Given the description of an element on the screen output the (x, y) to click on. 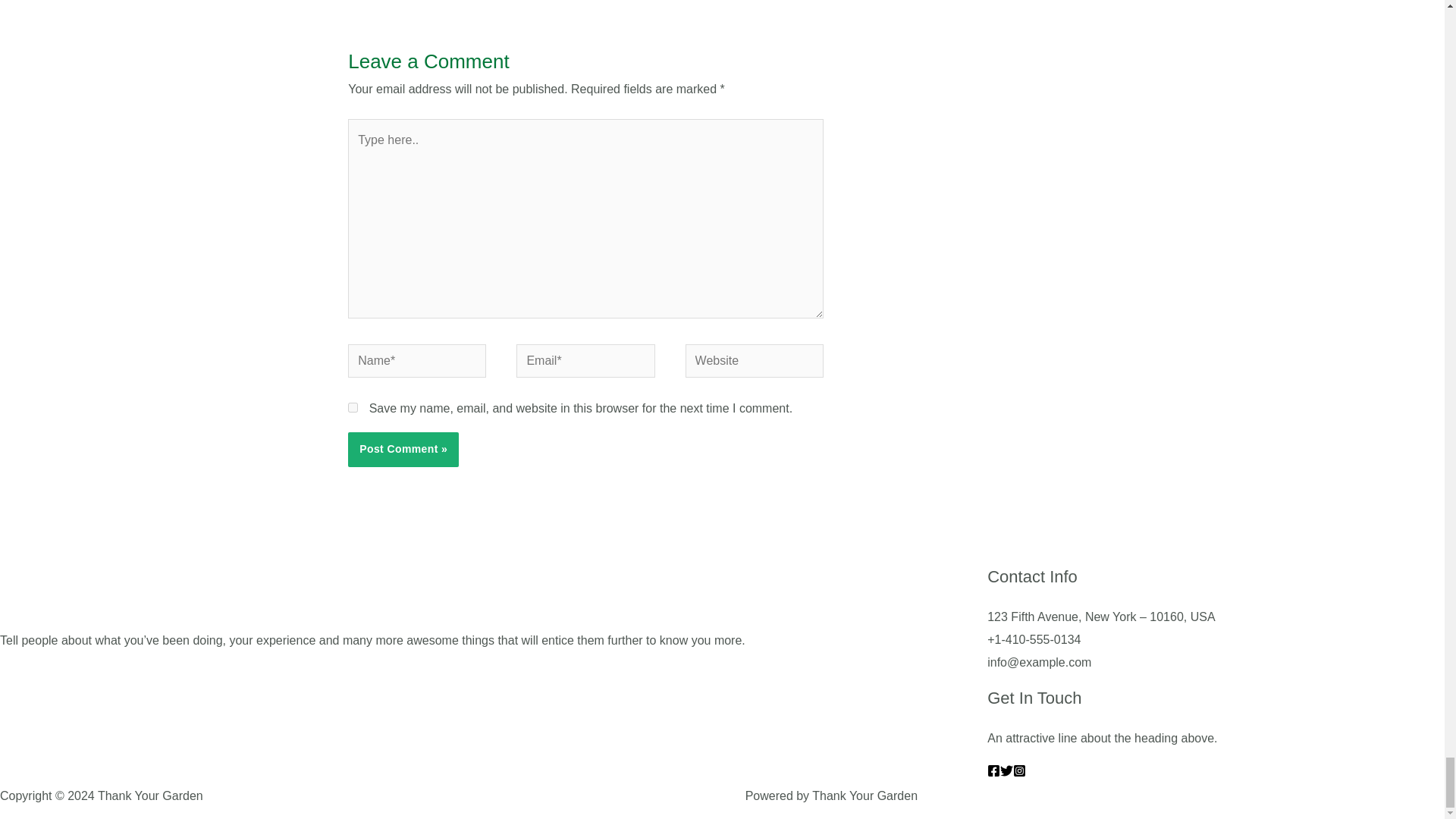
yes (352, 407)
